Given the description of an element on the screen output the (x, y) to click on. 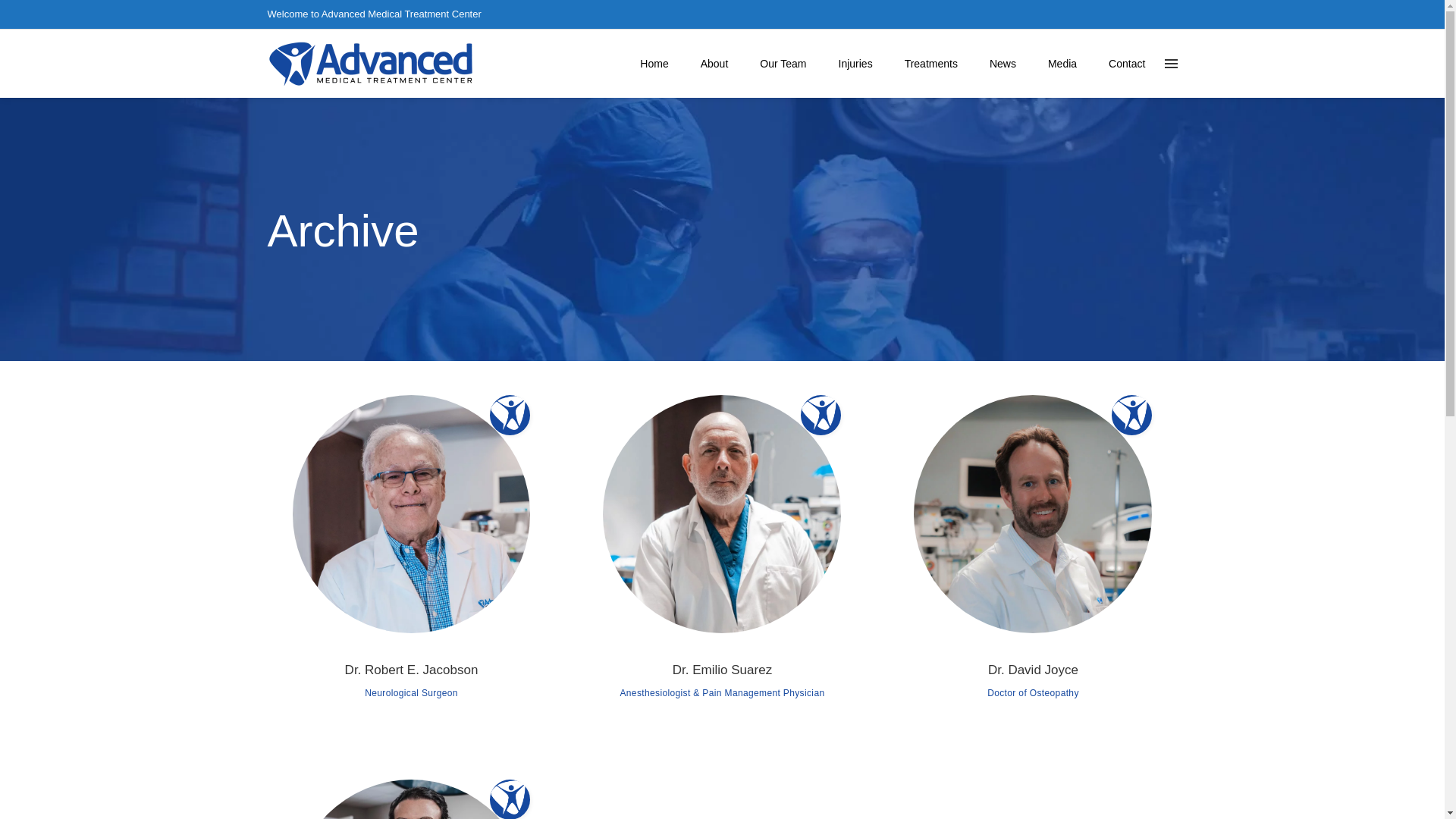
Media (1062, 63)
Contact (1126, 63)
Treatments (931, 63)
Our Team (783, 63)
Injuries (855, 63)
